Given the description of an element on the screen output the (x, y) to click on. 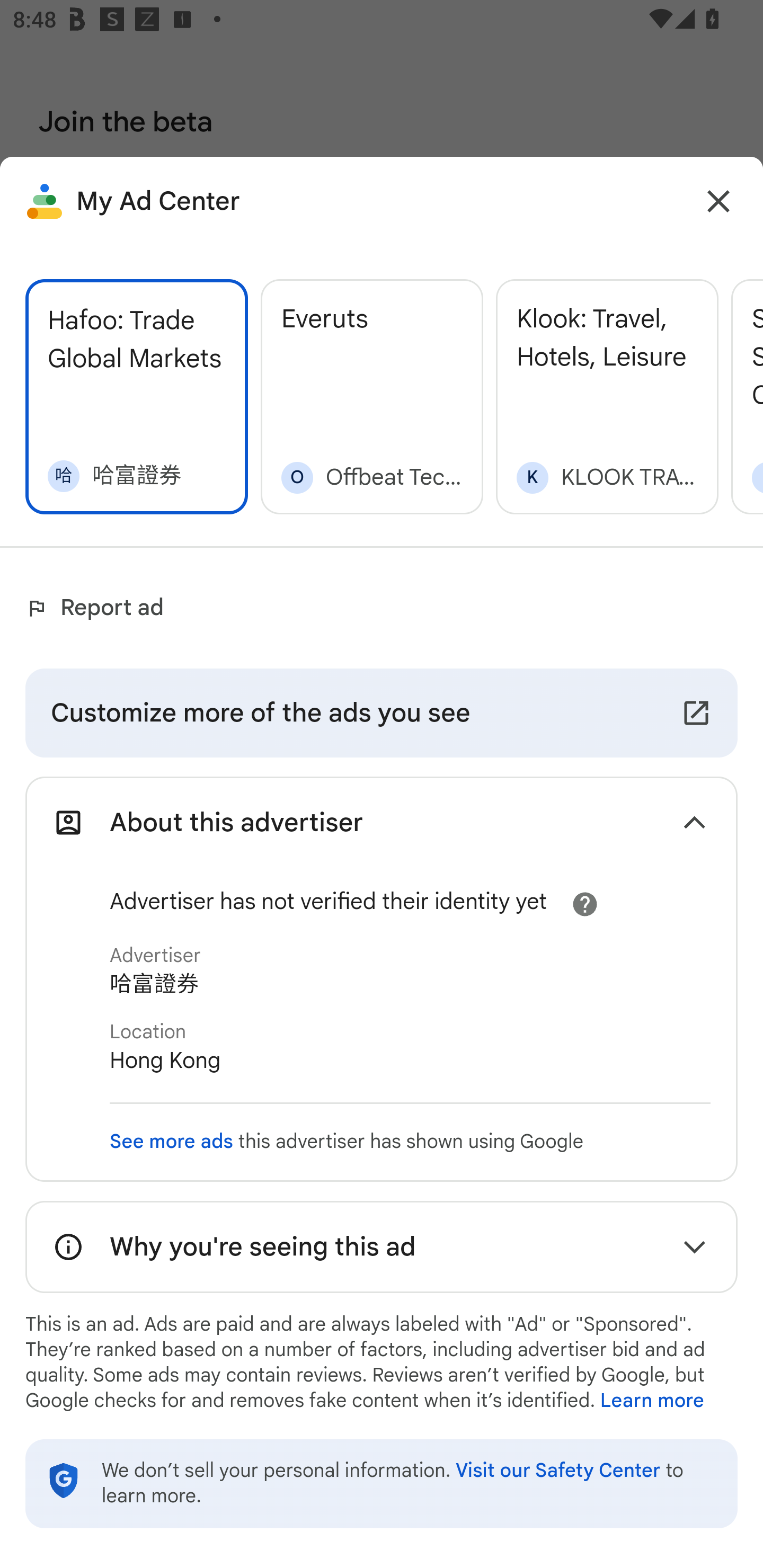
Close (718, 201)
Report ad (opens in new tab) Report ad (98, 608)
About this advertiser (381, 822)
See more ads (opens in new tab) See more ads (171, 1141)
Why you're seeing this ad (381, 1247)
Learn more (opens in new tab) Learn more (651, 1400)
